Given the description of an element on the screen output the (x, y) to click on. 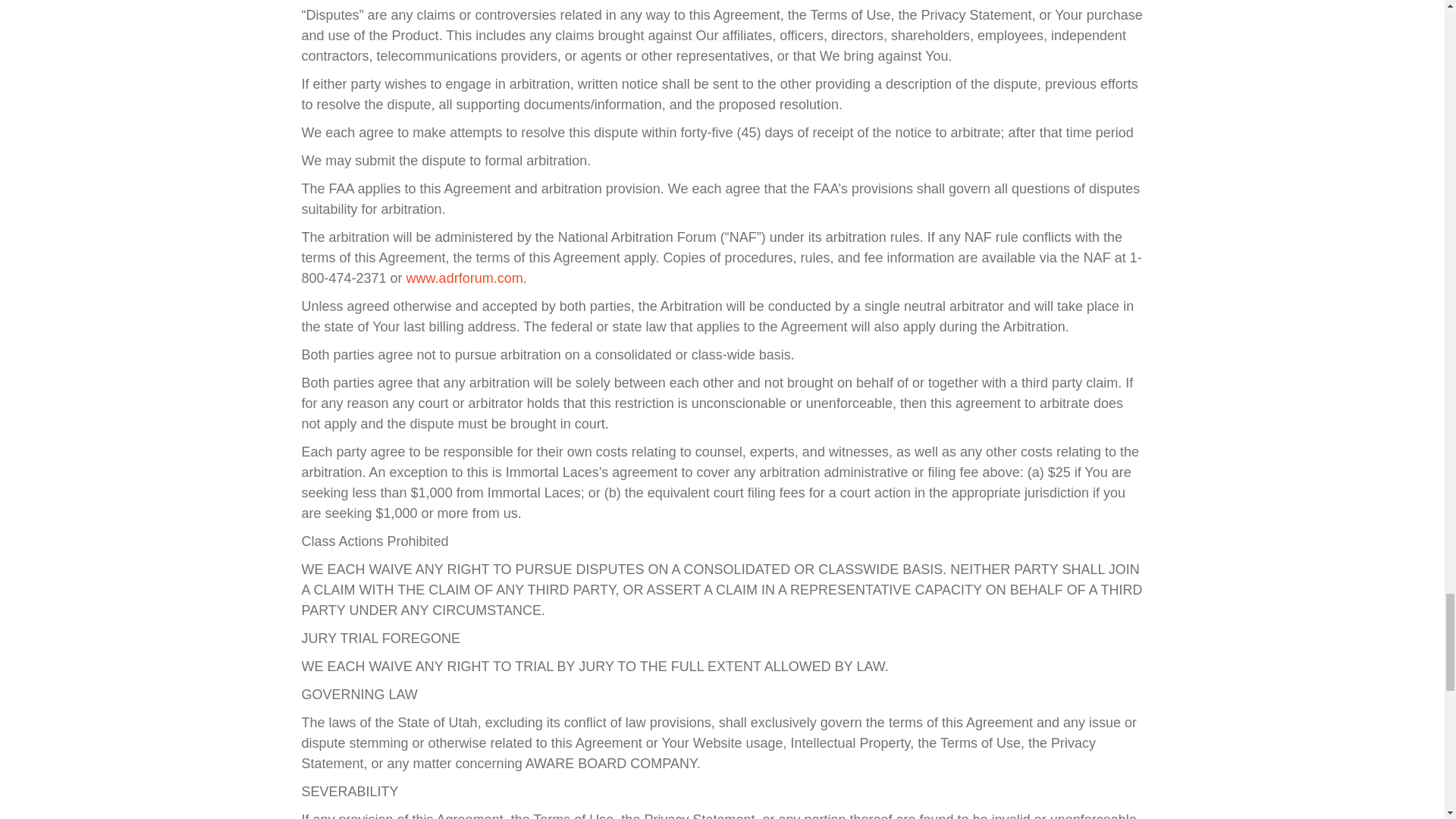
www.adrforum.com (464, 278)
